Given the description of an element on the screen output the (x, y) to click on. 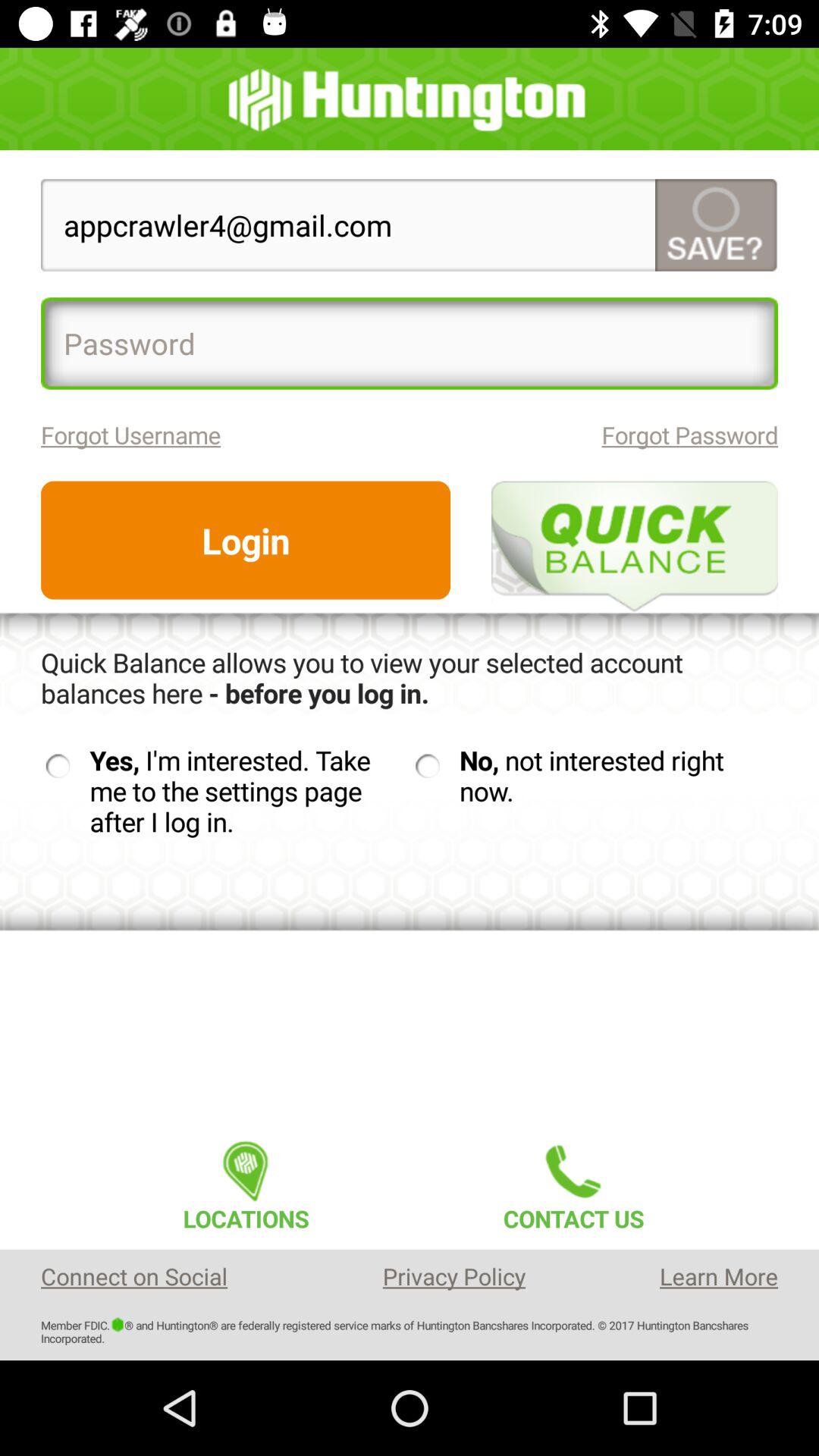
tap login (245, 540)
